Given the description of an element on the screen output the (x, y) to click on. 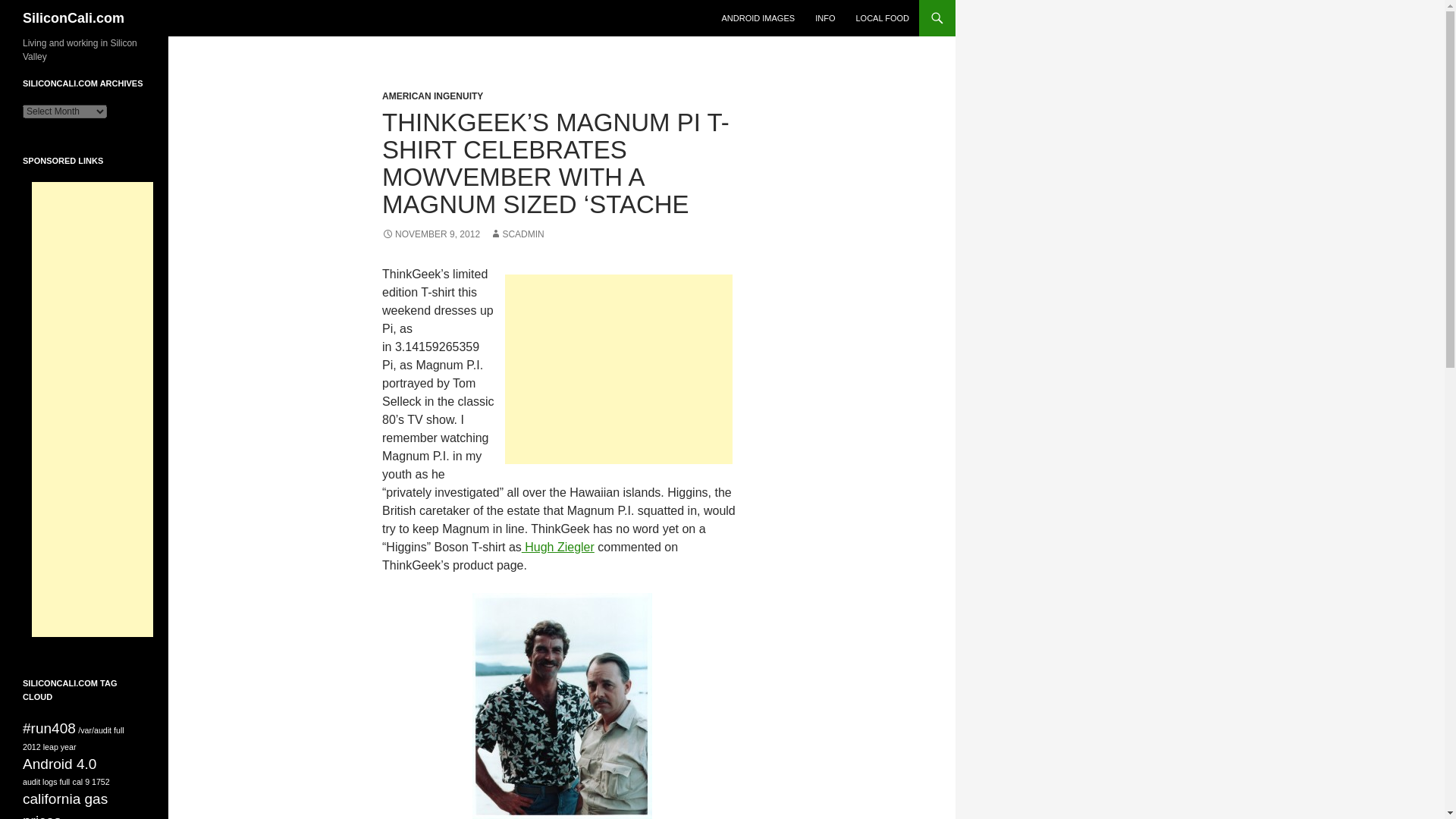
california gas prices (65, 805)
2012 leap year (50, 746)
AMERICAN INGENUITY (432, 95)
Hugh Ziegler (557, 546)
LOCAL FOOD (881, 18)
INFO (825, 18)
SCADMIN (516, 234)
NOVEMBER 9, 2012 (430, 234)
SiliconCali.com (73, 18)
audit logs full (46, 781)
Android 4.0 (59, 763)
ANDROID IMAGES (759, 18)
cal 9 1752 (91, 781)
Advertisement (618, 369)
